Given the description of an element on the screen output the (x, y) to click on. 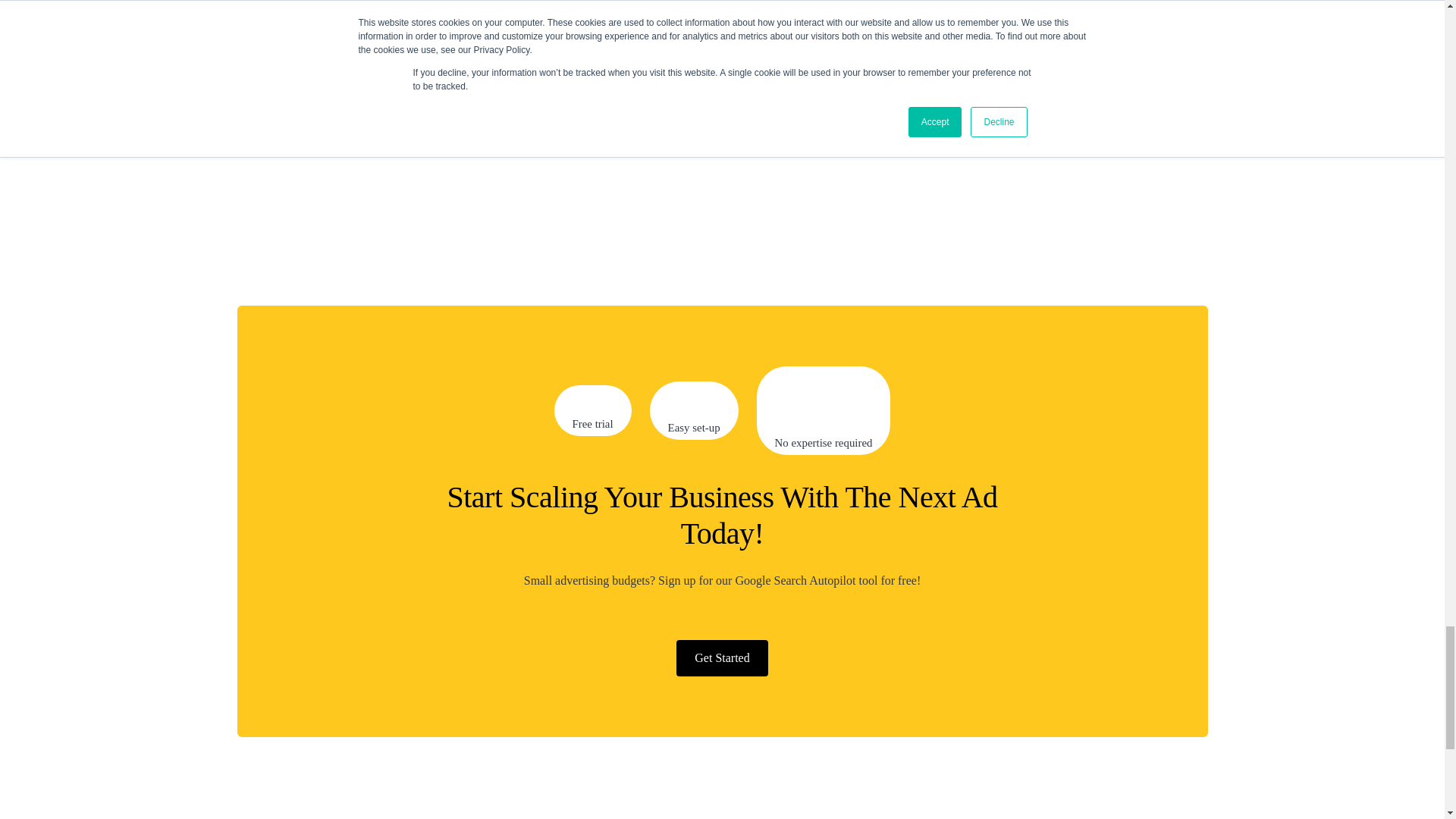
How To Advertise Your Online Store (982, 114)
Get Started (722, 656)
Get Started (722, 657)
